Given the description of an element on the screen output the (x, y) to click on. 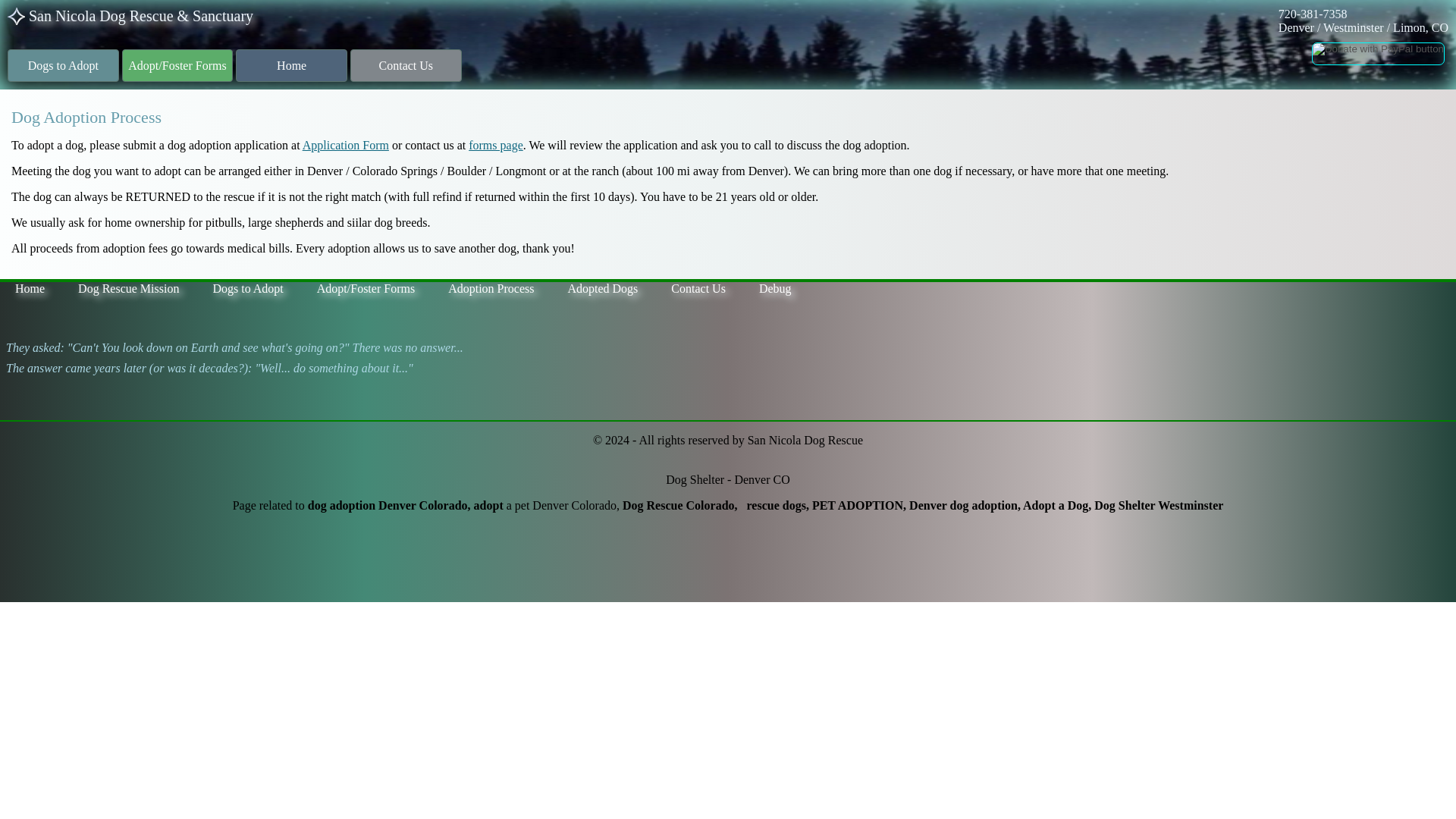
Adopted Dogs (601, 292)
Home (291, 65)
forms page (495, 144)
Contact Us (698, 292)
Dogs to Adopt (247, 292)
Dogs to Adopt (63, 65)
PayPal - The safer, easier way to pay online! (1377, 53)
Dog Rescue Mission (127, 292)
Home (29, 292)
Adoption Process (490, 292)
